Given the description of an element on the screen output the (x, y) to click on. 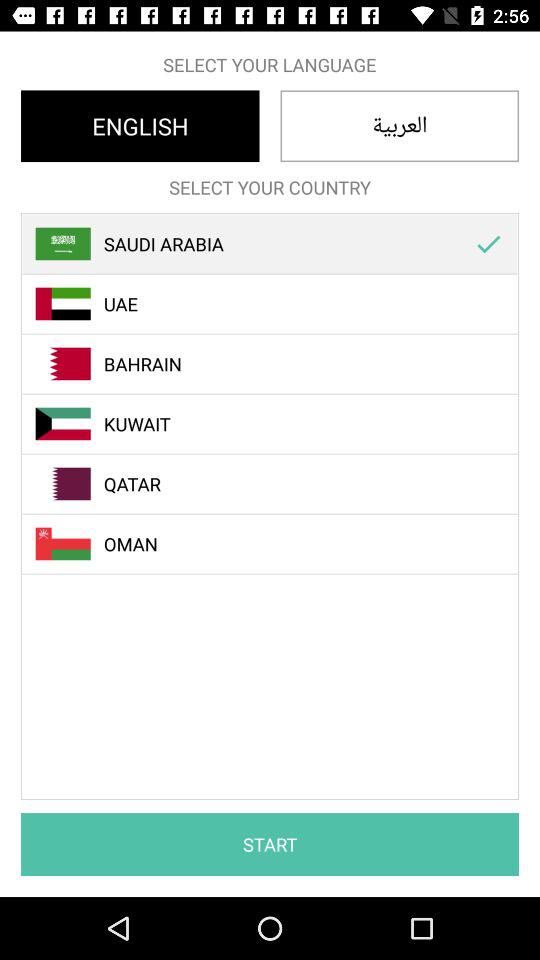
open item below kuwait item (281, 483)
